Given the description of an element on the screen output the (x, y) to click on. 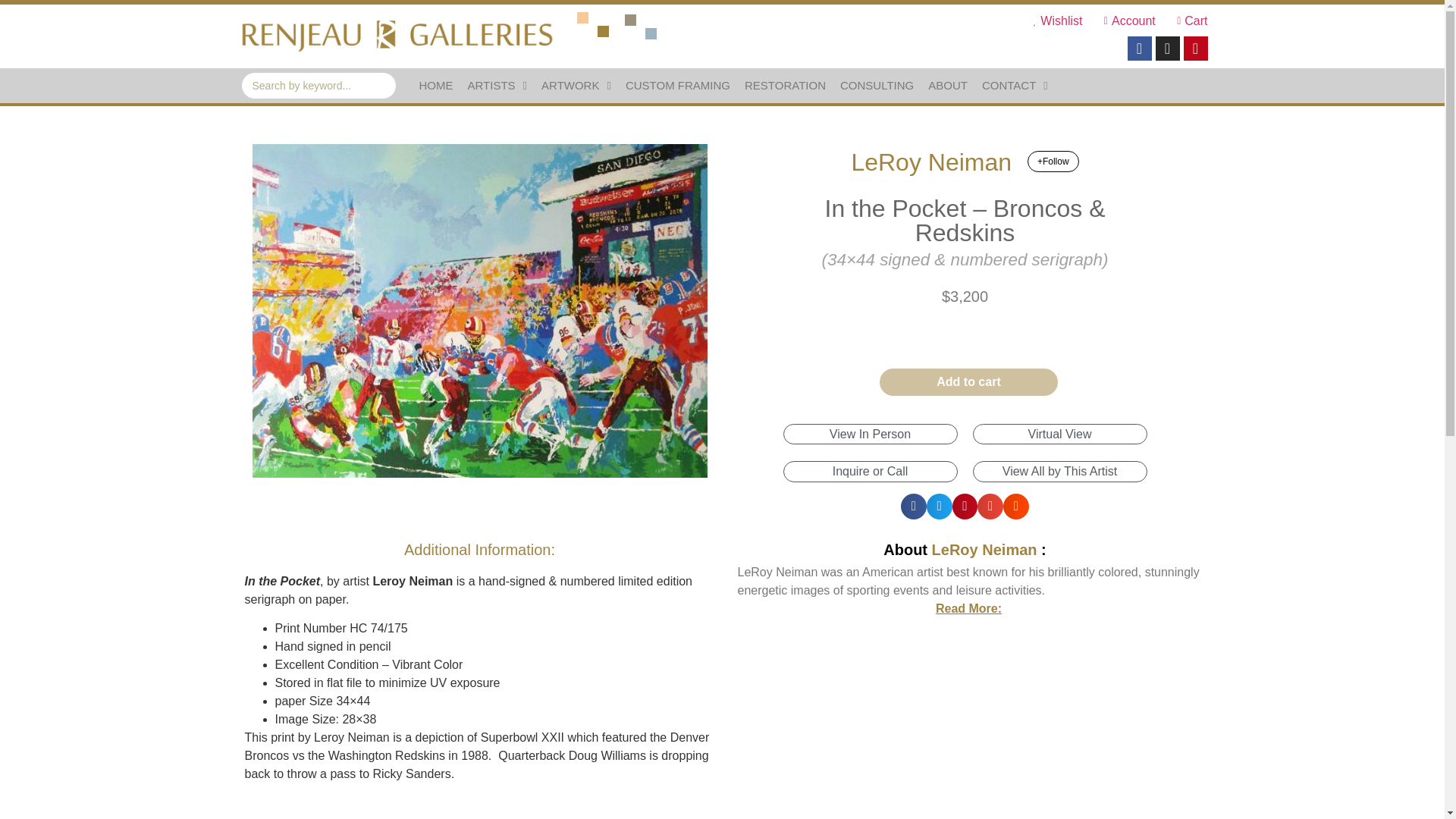
CONTACT (1014, 85)
ABOUT (948, 85)
ARTWORK (576, 85)
Wishlist (1053, 21)
HOME (435, 85)
ARTISTS (497, 85)
CUSTOM FRAMING (678, 85)
Cart (1187, 21)
CONSULTING (877, 85)
RESTORATION (784, 85)
Account (1124, 21)
